Given the description of an element on the screen output the (x, y) to click on. 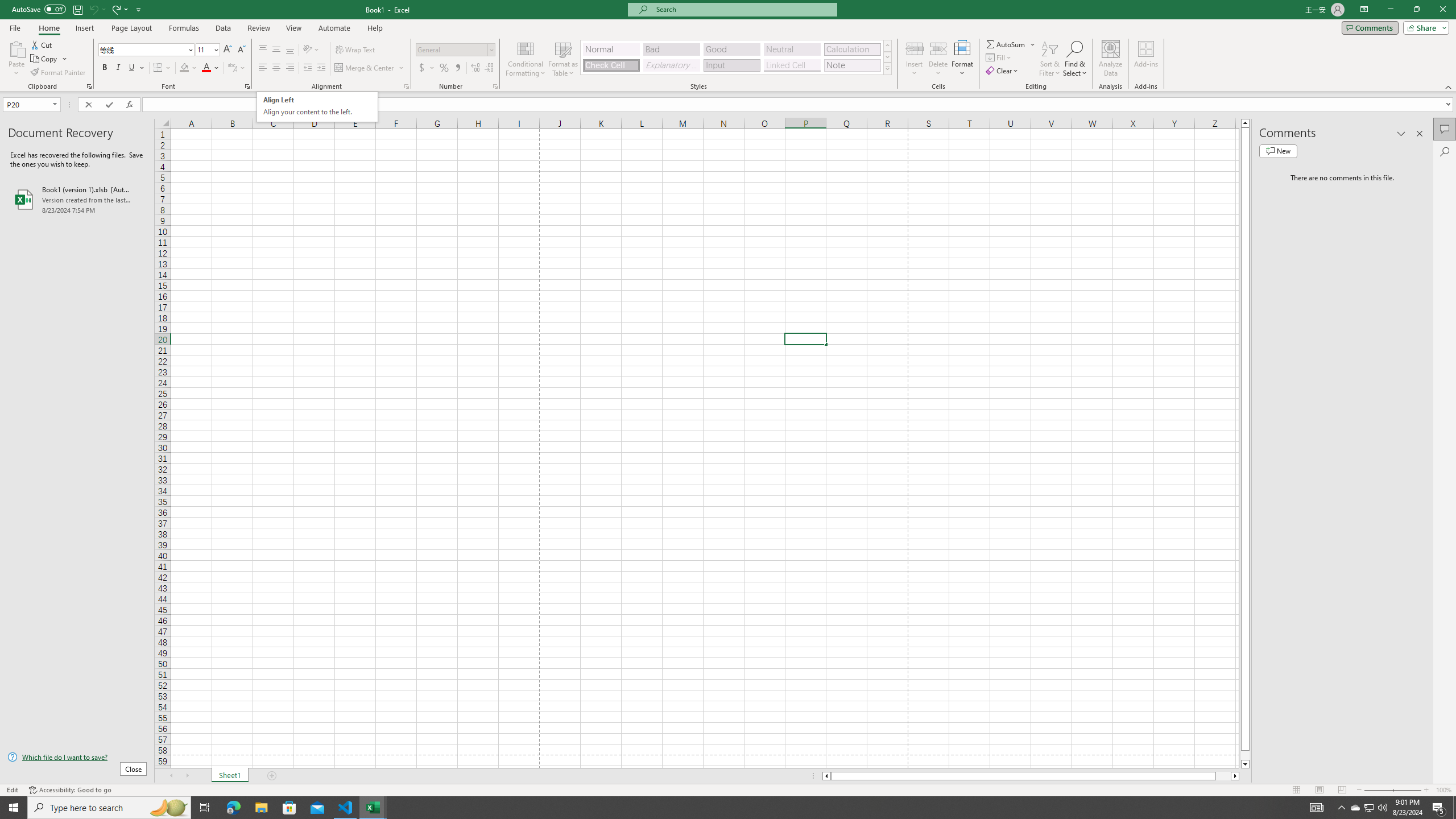
Calculation (852, 49)
Accounting Number Format (422, 67)
Class: MsoCommandBar (728, 45)
Wrap Text (355, 49)
Bottom Align (290, 49)
Copy (45, 58)
Number Format (451, 49)
Formula Bar (799, 104)
Underline (131, 67)
Conditional Formatting (525, 58)
Format Cell Alignment (405, 85)
